Given the description of an element on the screen output the (x, y) to click on. 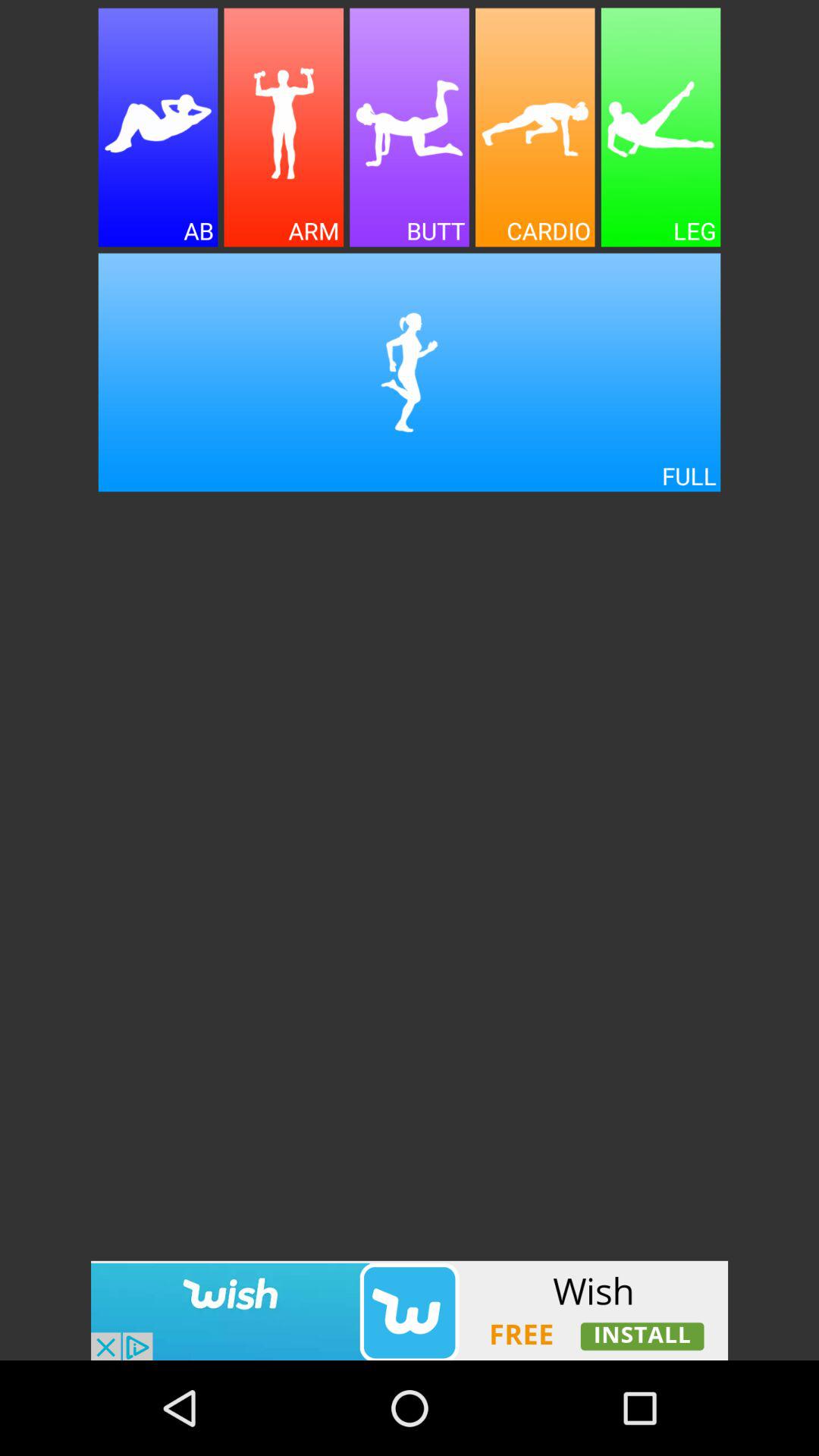
butt exercise (409, 126)
